Given the description of an element on the screen output the (x, y) to click on. 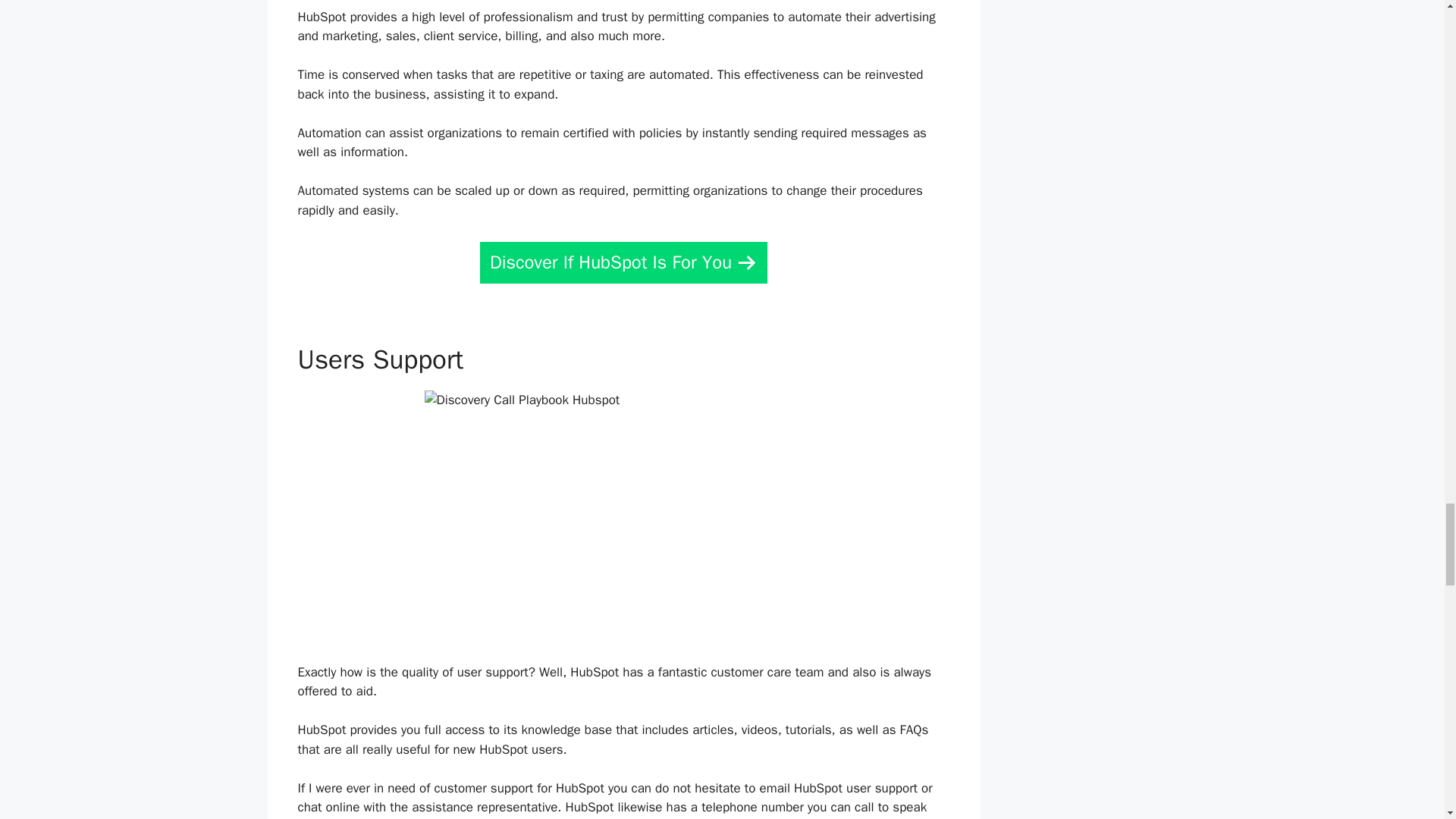
Discover If HubSpot Is For You (623, 262)
